Given the description of an element on the screen output the (x, y) to click on. 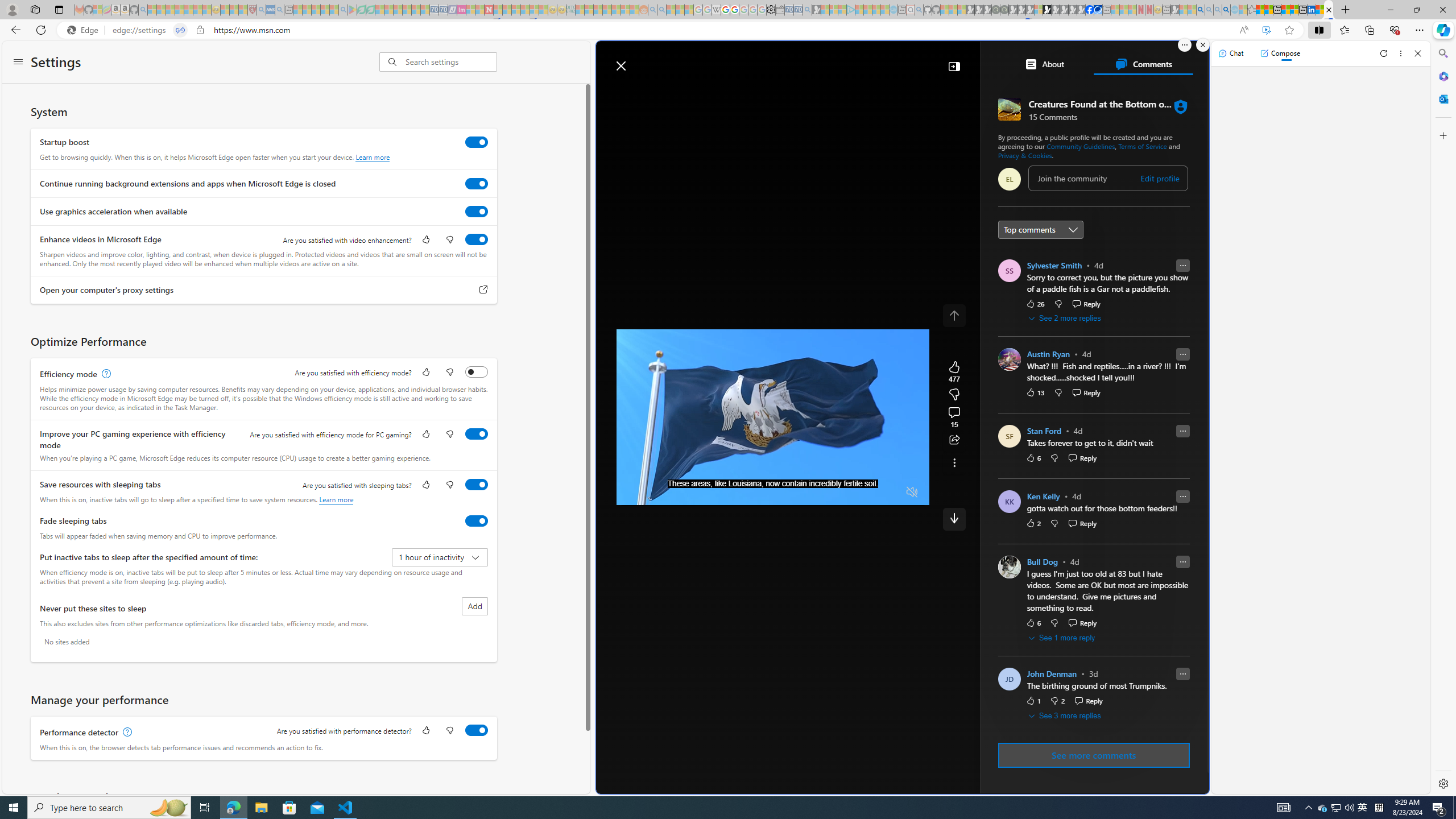
Progress Bar (772, 477)
Enter your search term (904, 59)
Cheap Hotels - Save70.com - Sleeping (442, 9)
ABC News (1037, 415)
13 Like (1034, 392)
Close split screen. (1202, 45)
